Given the description of an element on the screen output the (x, y) to click on. 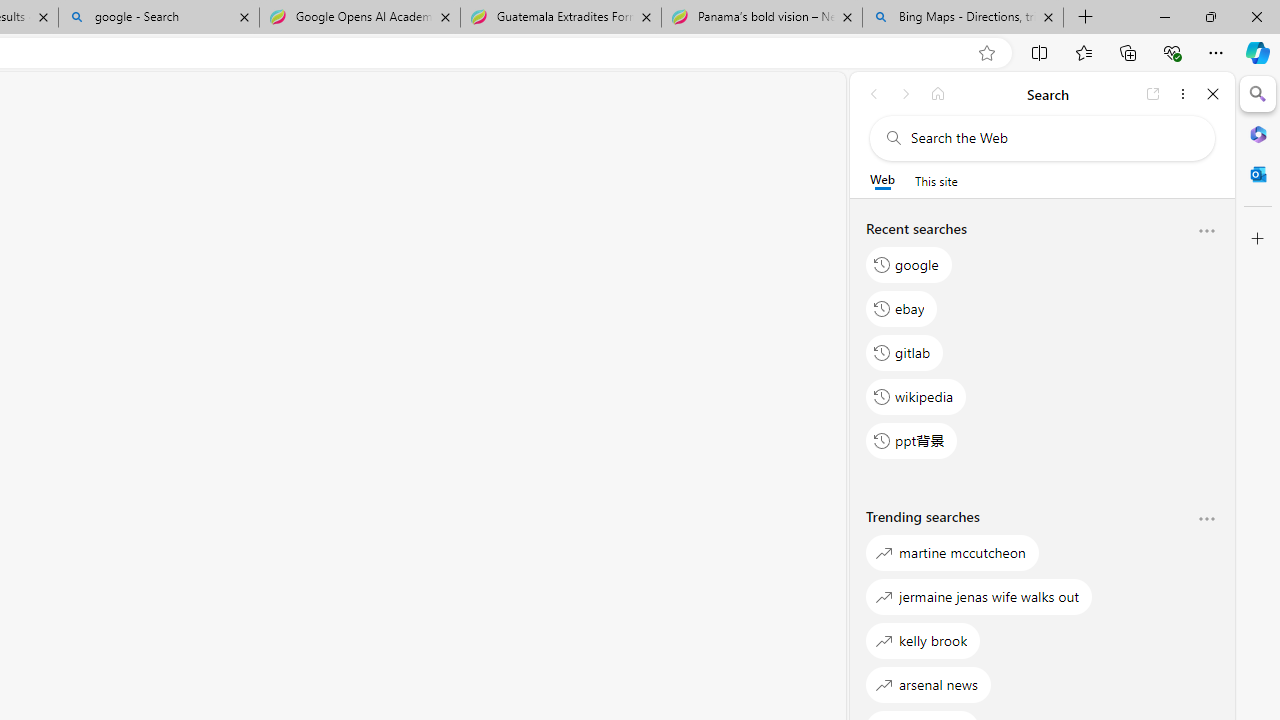
ebay (902, 308)
wikipedia (916, 396)
Google Opens AI Academy for Startups - Nearshore Americas (359, 17)
